Given the description of an element on the screen output the (x, y) to click on. 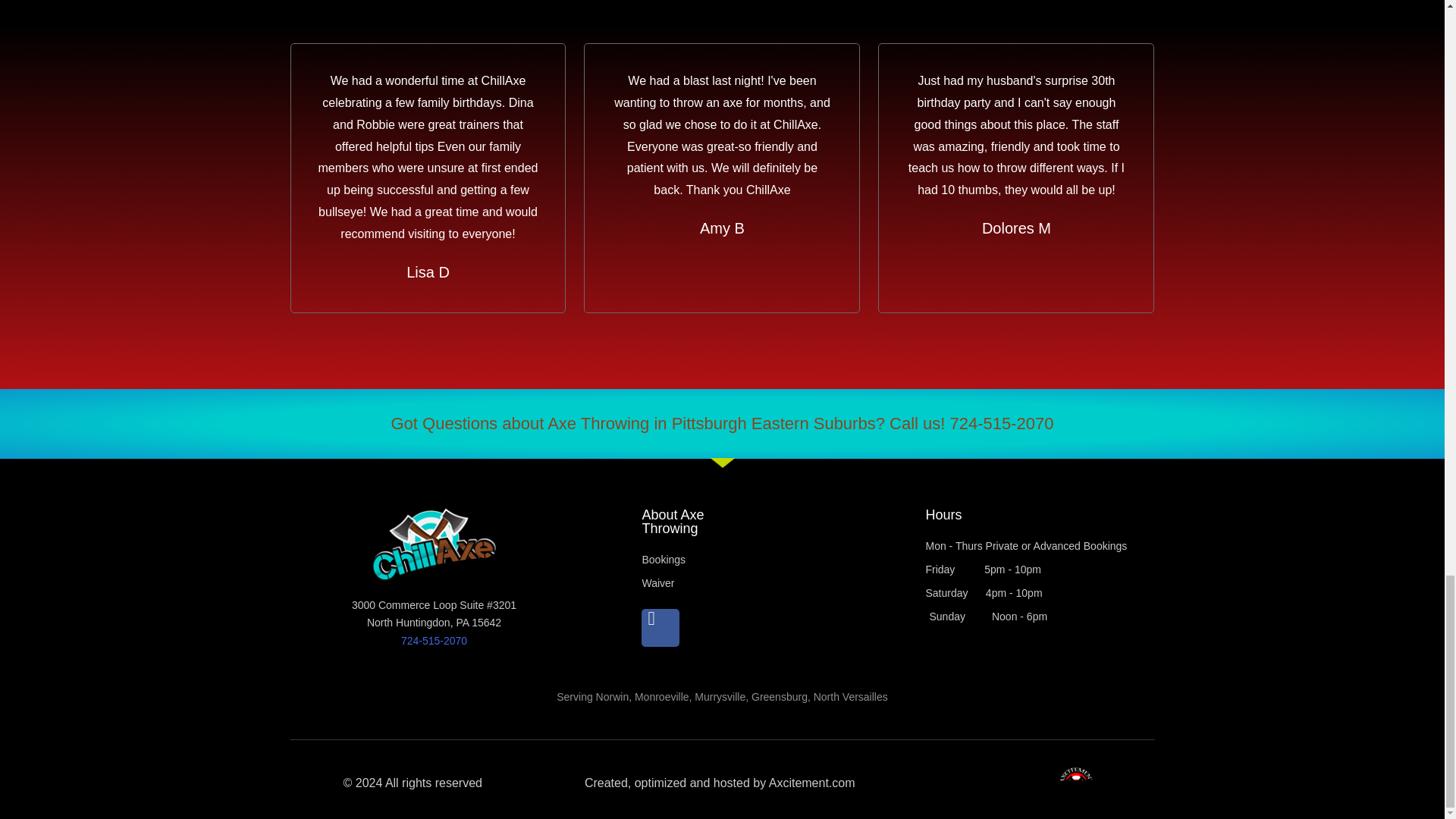
Mon - Thurs Private or Advanced Bookings (1039, 546)
Bookings (754, 560)
724-515-2070 (434, 640)
Waiver (754, 583)
Created, optimized and hosted by Axcitement.com (720, 782)
Friday          5pm - 10pm (1039, 569)
Facebook (660, 628)
